Given the description of an element on the screen output the (x, y) to click on. 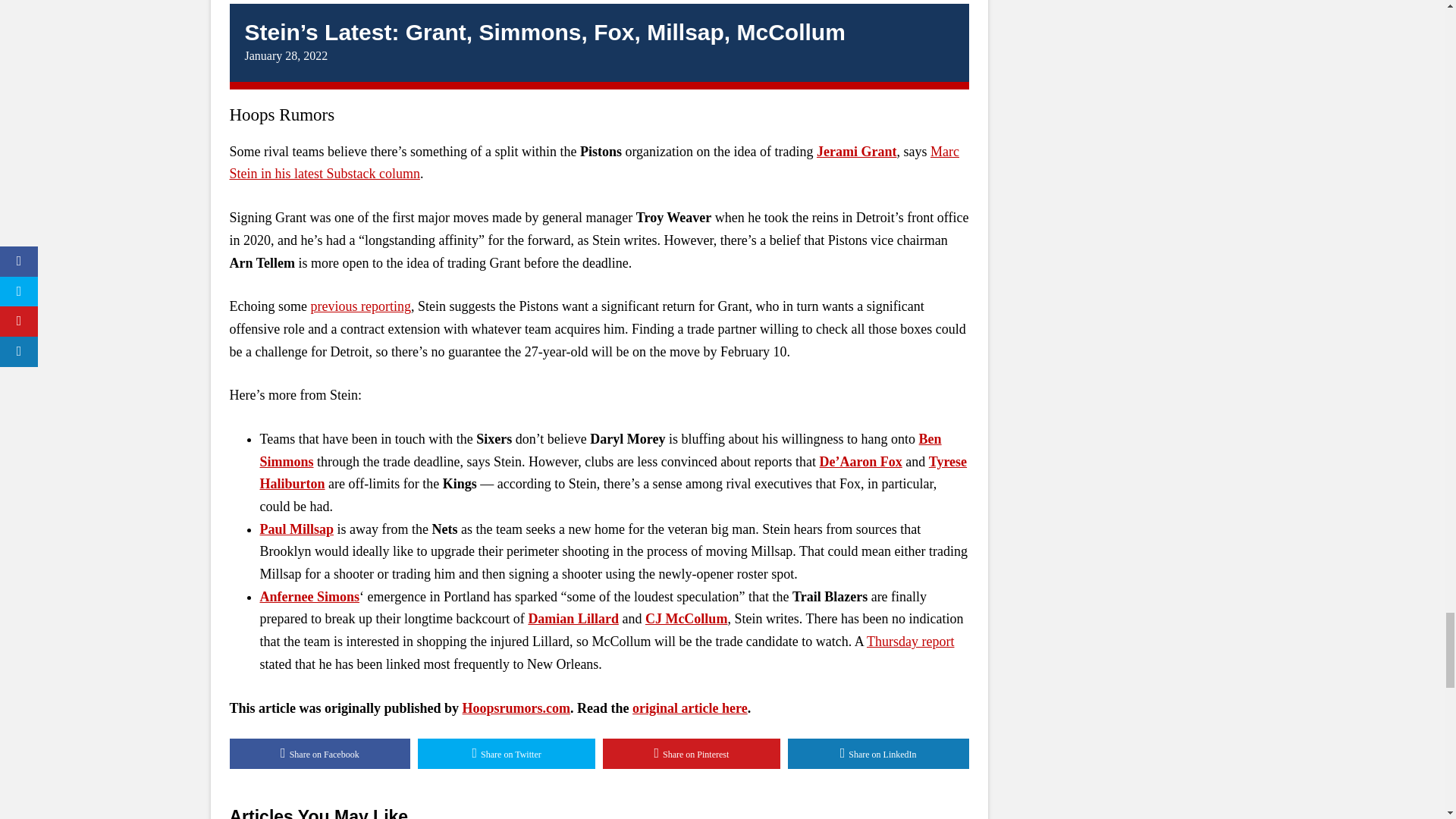
Hoops Rumors (281, 114)
